Given the description of an element on the screen output the (x, y) to click on. 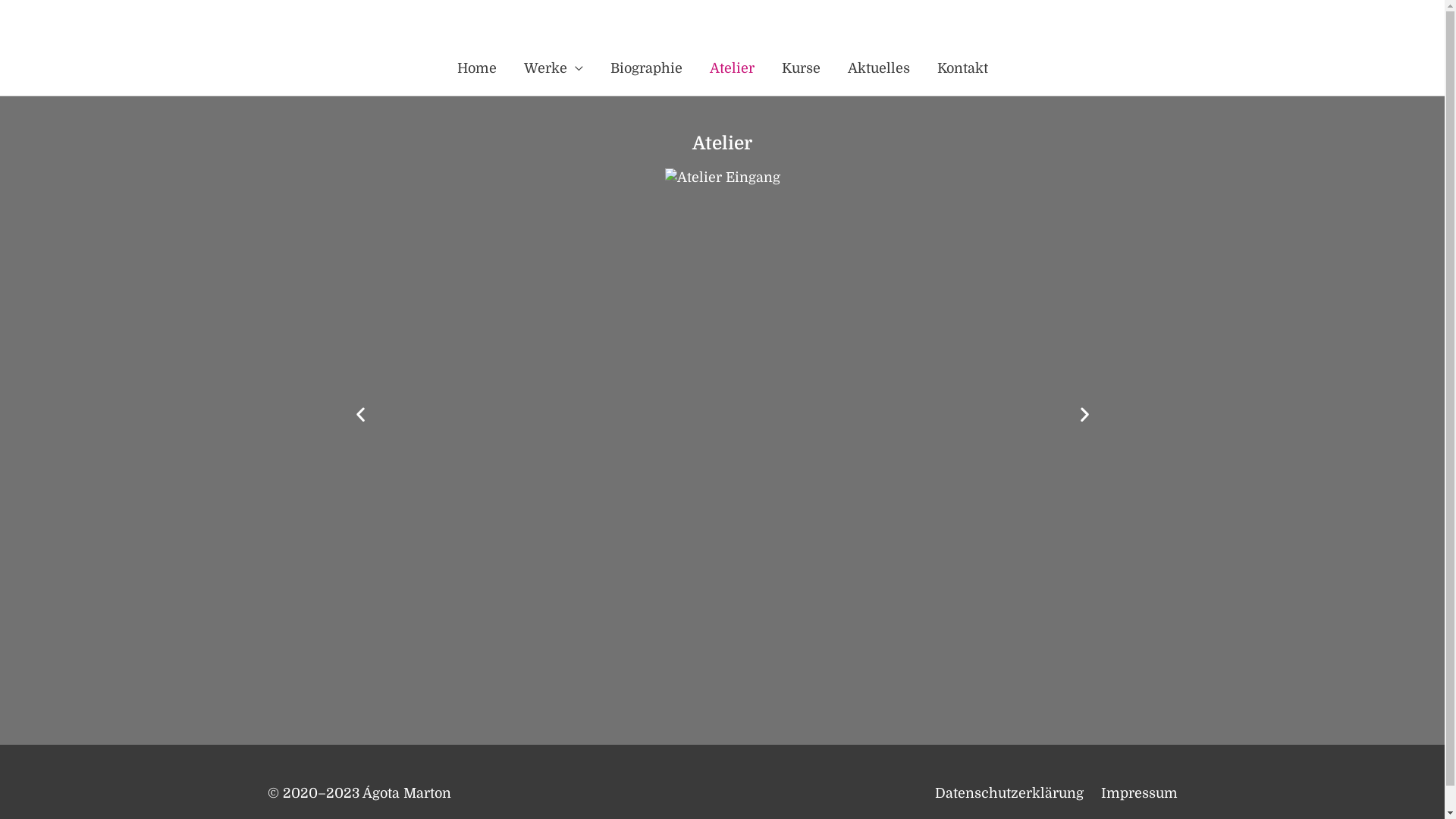
Werke Element type: text (552, 67)
Biographie Element type: text (645, 67)
Aktuelles Element type: text (878, 67)
Kontakt Element type: text (962, 67)
Atelier Element type: text (732, 67)
Impressum Element type: text (1132, 792)
Home Element type: text (475, 67)
Kurse Element type: text (800, 67)
